Given the description of an element on the screen output the (x, y) to click on. 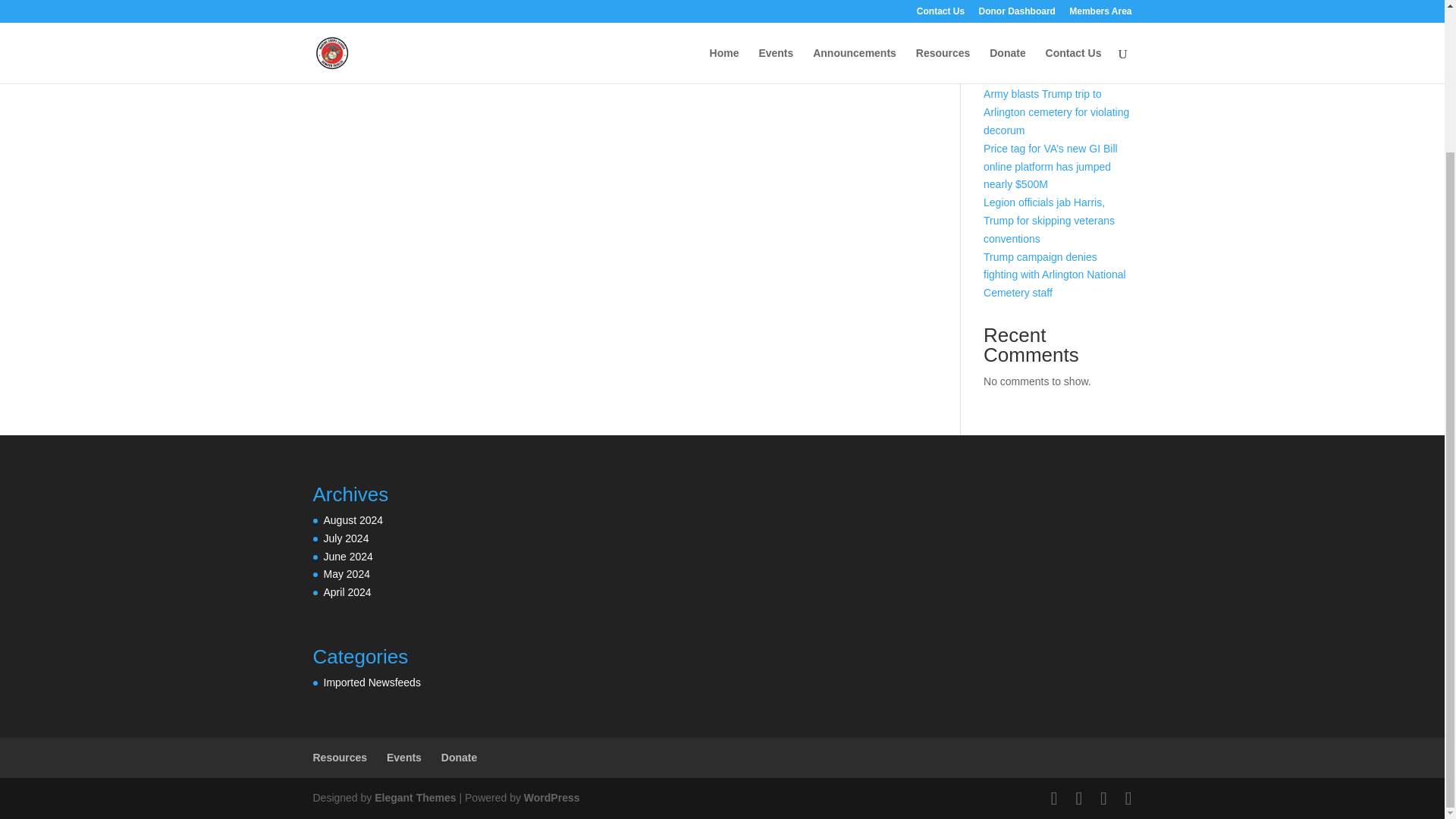
July 2024 (345, 538)
Imported Newsfeeds (371, 682)
WordPress (551, 797)
May 2024 (346, 573)
April 2024 (347, 592)
Resources (339, 757)
Premium WordPress Themes (414, 797)
